Given the description of an element on the screen output the (x, y) to click on. 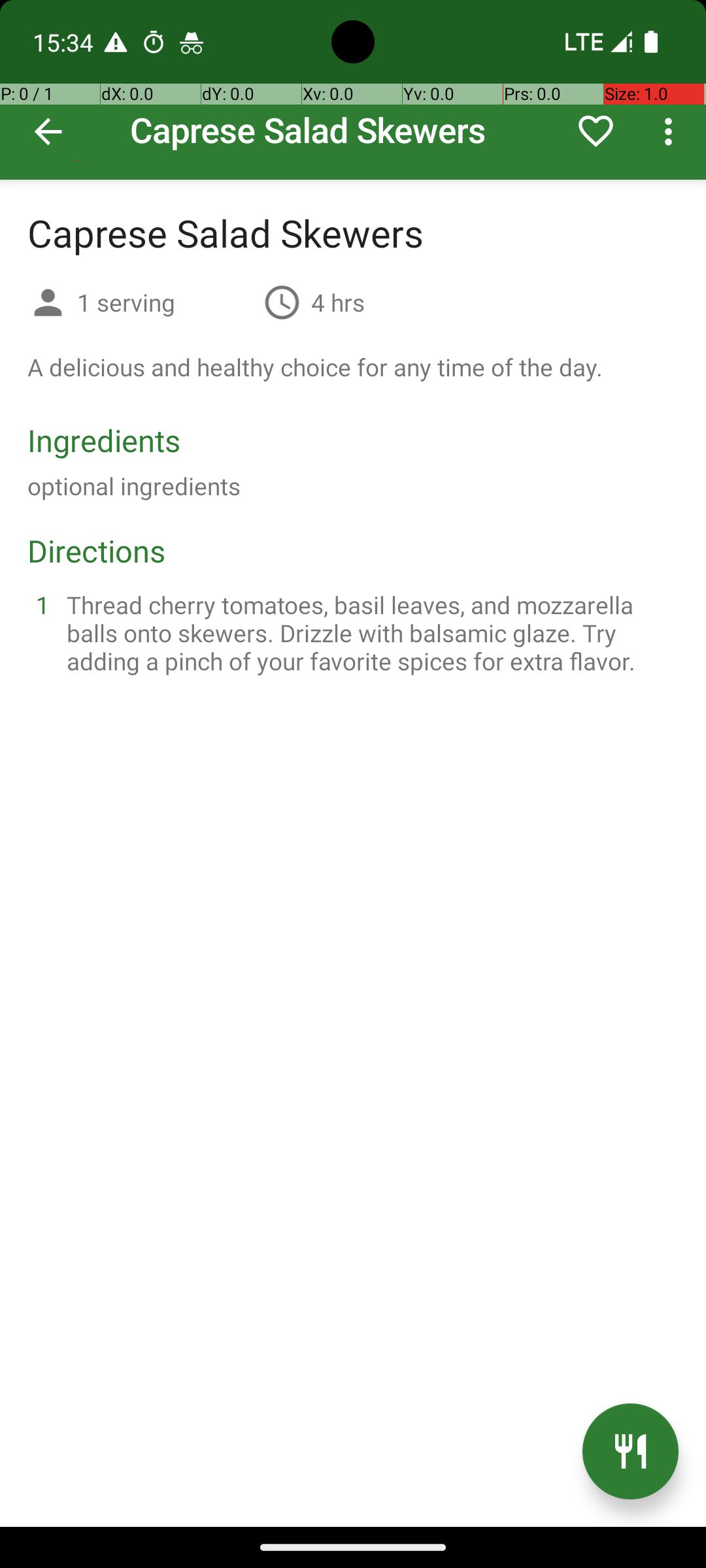
Caprese Salad Skewers Element type: android.widget.FrameLayout (353, 89)
Mark as favorite Element type: android.widget.Button (595, 131)
1 serving Element type: android.widget.TextView (164, 301)
4 hrs Element type: android.widget.TextView (337, 301)
optional ingredients Element type: android.widget.TextView (133, 485)
Thread cherry tomatoes, basil leaves, and mozzarella balls onto skewers. Drizzle with balsamic glaze. Try adding a pinch of your favorite spices for extra flavor. Element type: android.widget.TextView (368, 632)
